Given the description of an element on the screen output the (x, y) to click on. 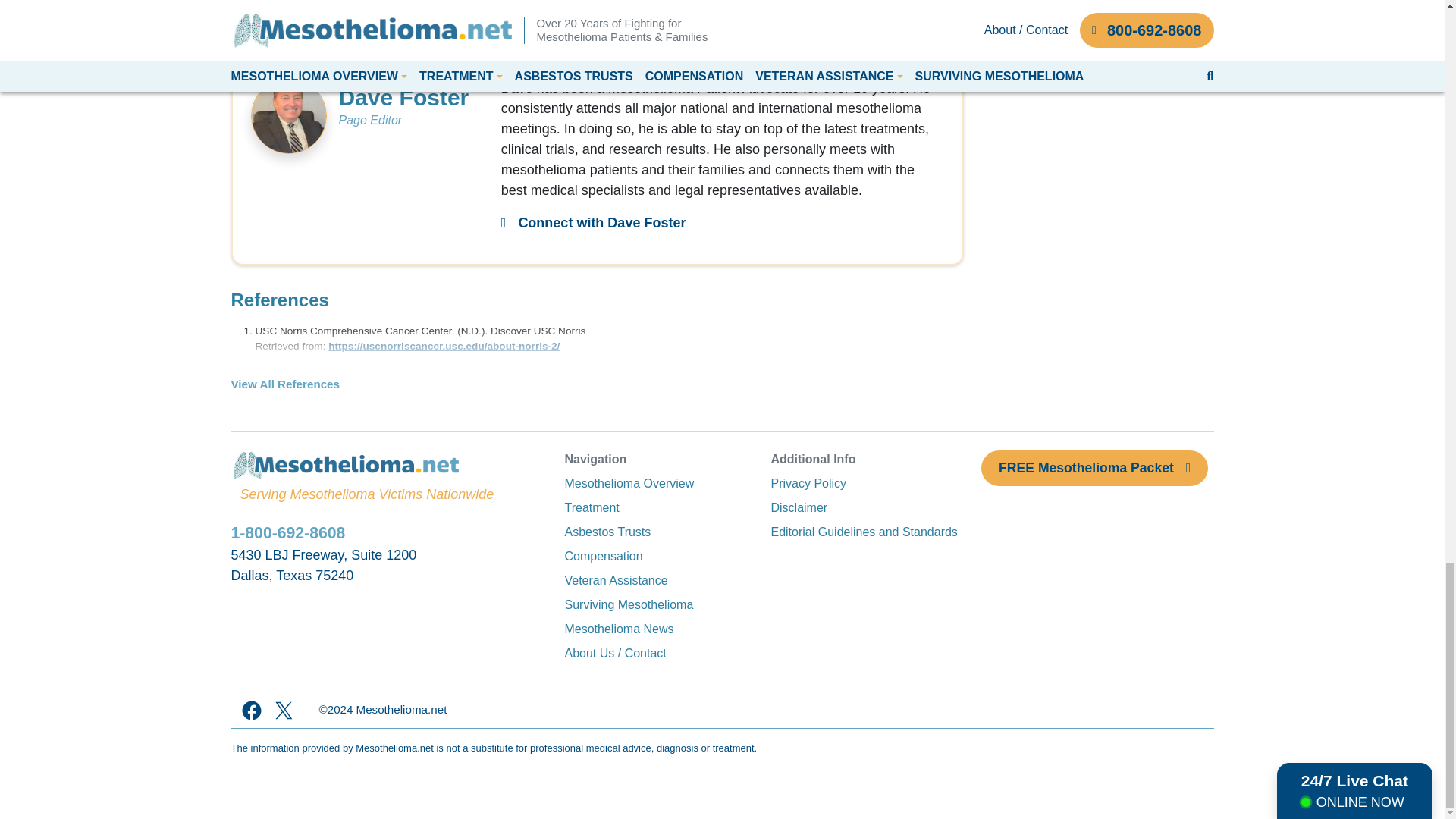
Dave Foster (592, 222)
Mesothelioma.net (400, 710)
